Given the description of an element on the screen output the (x, y) to click on. 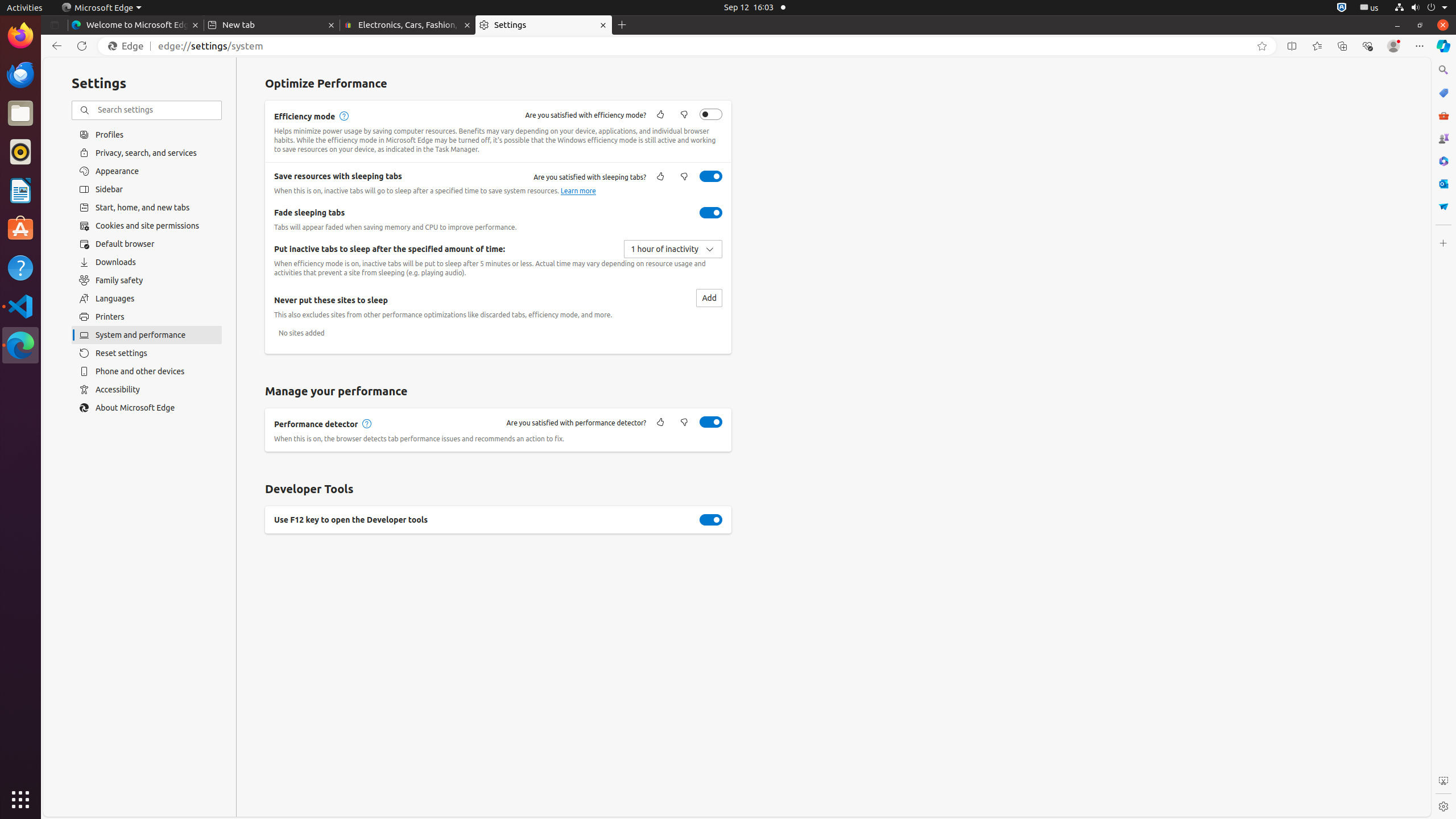
Like Element type: toggle-button (660, 423)
Close tab Element type: push-button (195, 25)
Settings Element type: page-tab (543, 25)
Show Applications Element type: toggle-button (20, 799)
